Given the description of an element on the screen output the (x, y) to click on. 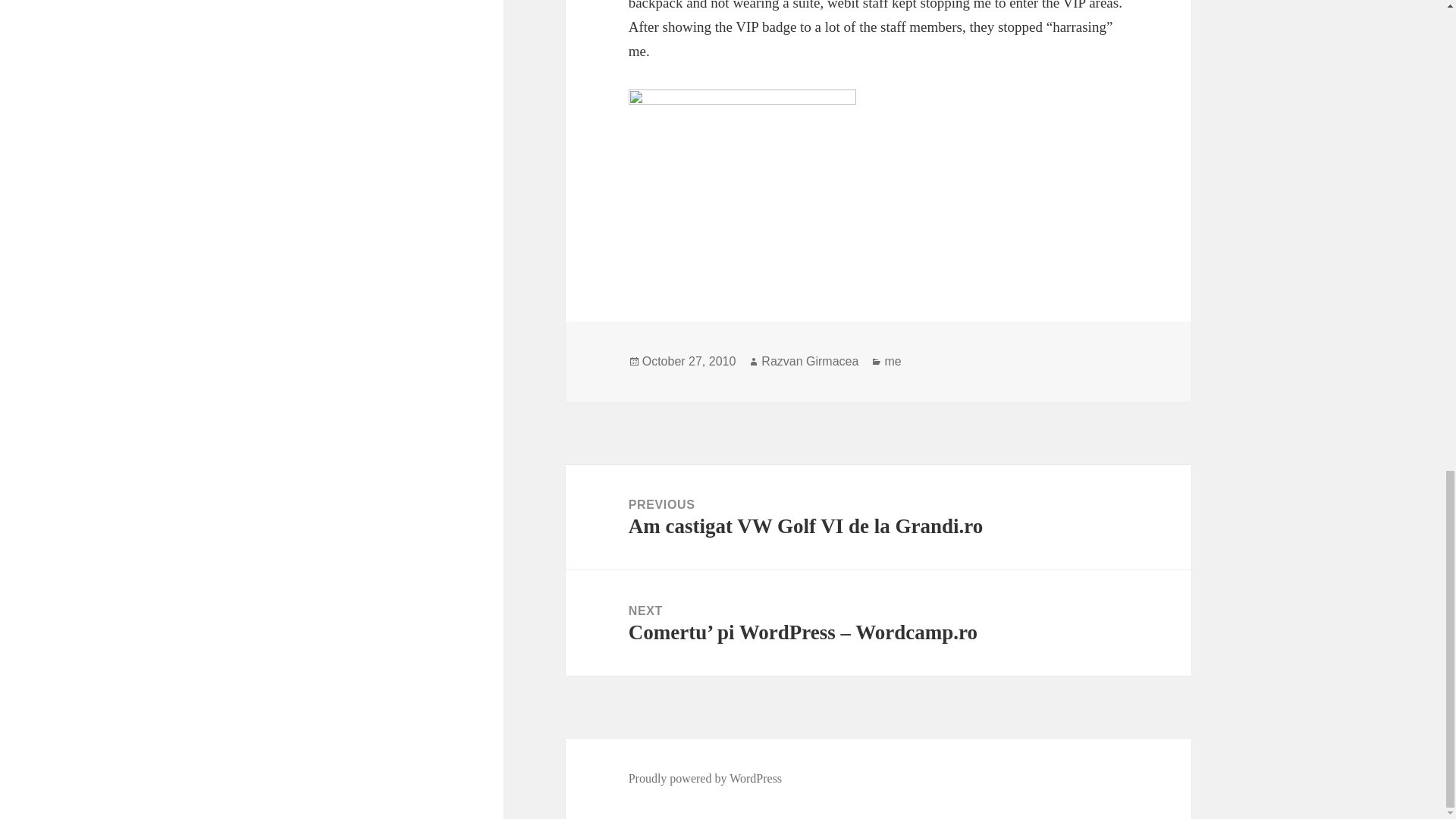
me (892, 361)
Razvan Girmacea (810, 361)
Proudly powered by WordPress (704, 778)
October 27, 2010 (689, 361)
